Given the description of an element on the screen output the (x, y) to click on. 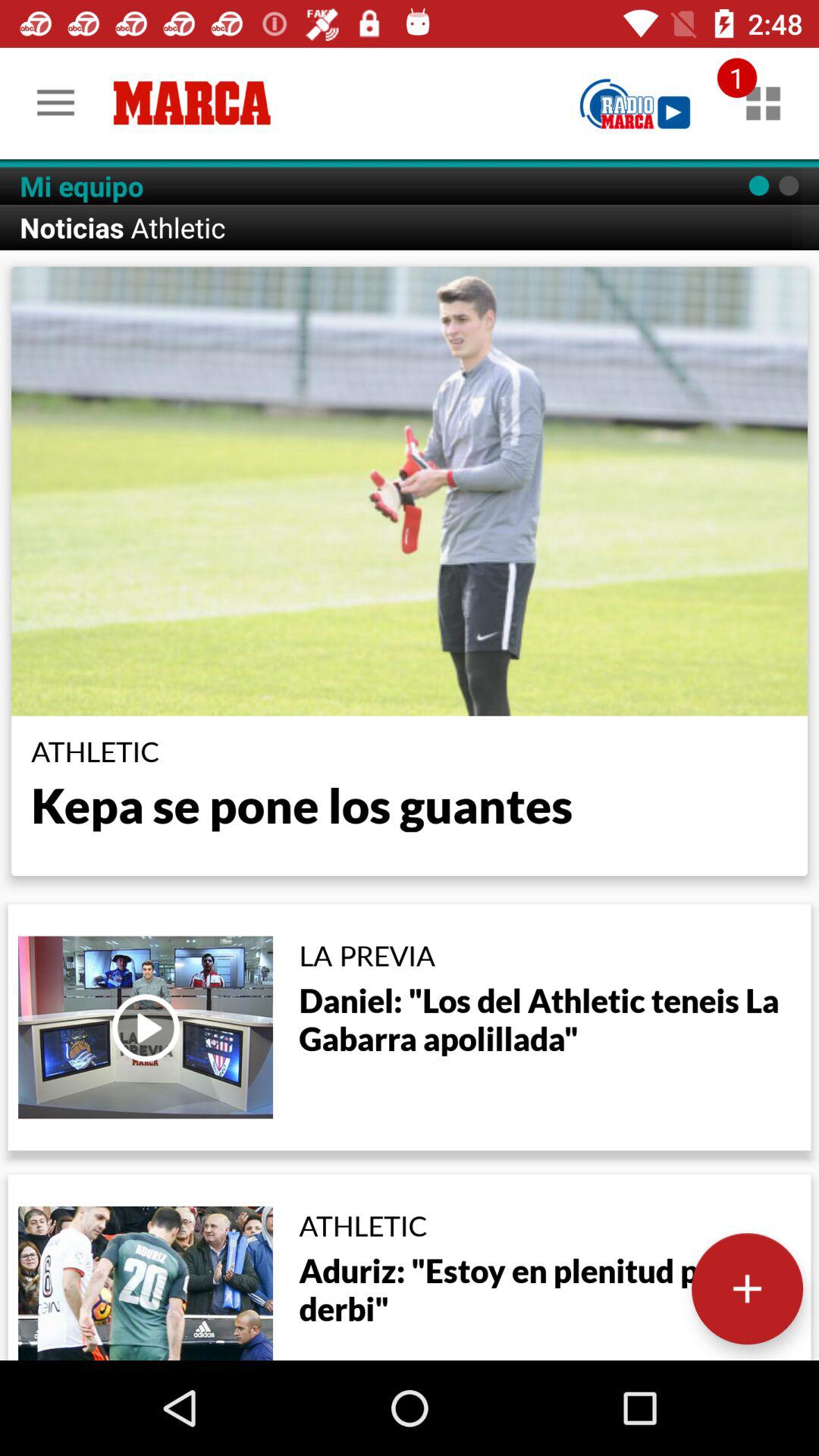
play radio marca (635, 103)
